Given the description of an element on the screen output the (x, y) to click on. 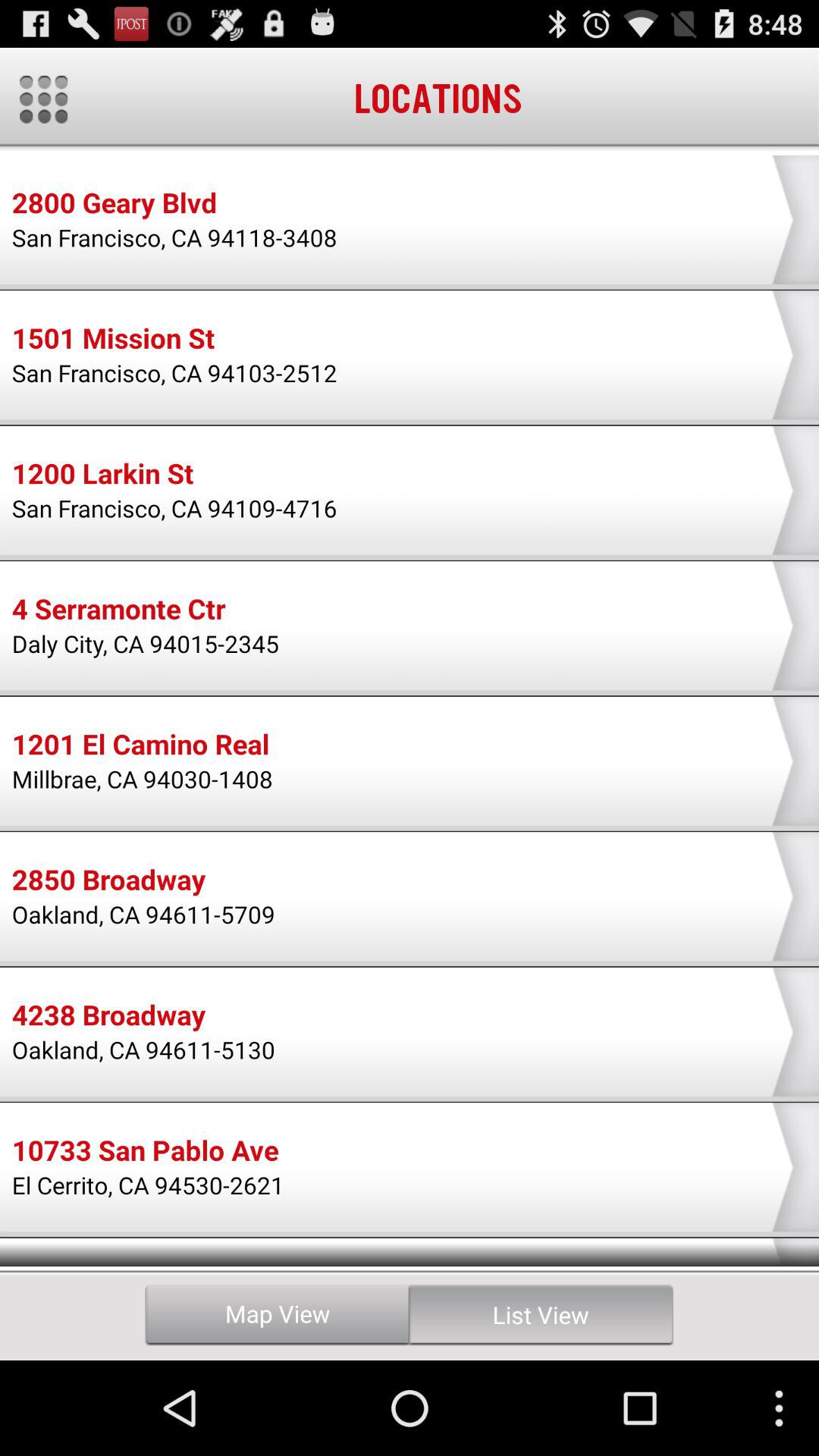
click 4238 broadway app (108, 1017)
